Given the description of an element on the screen output the (x, y) to click on. 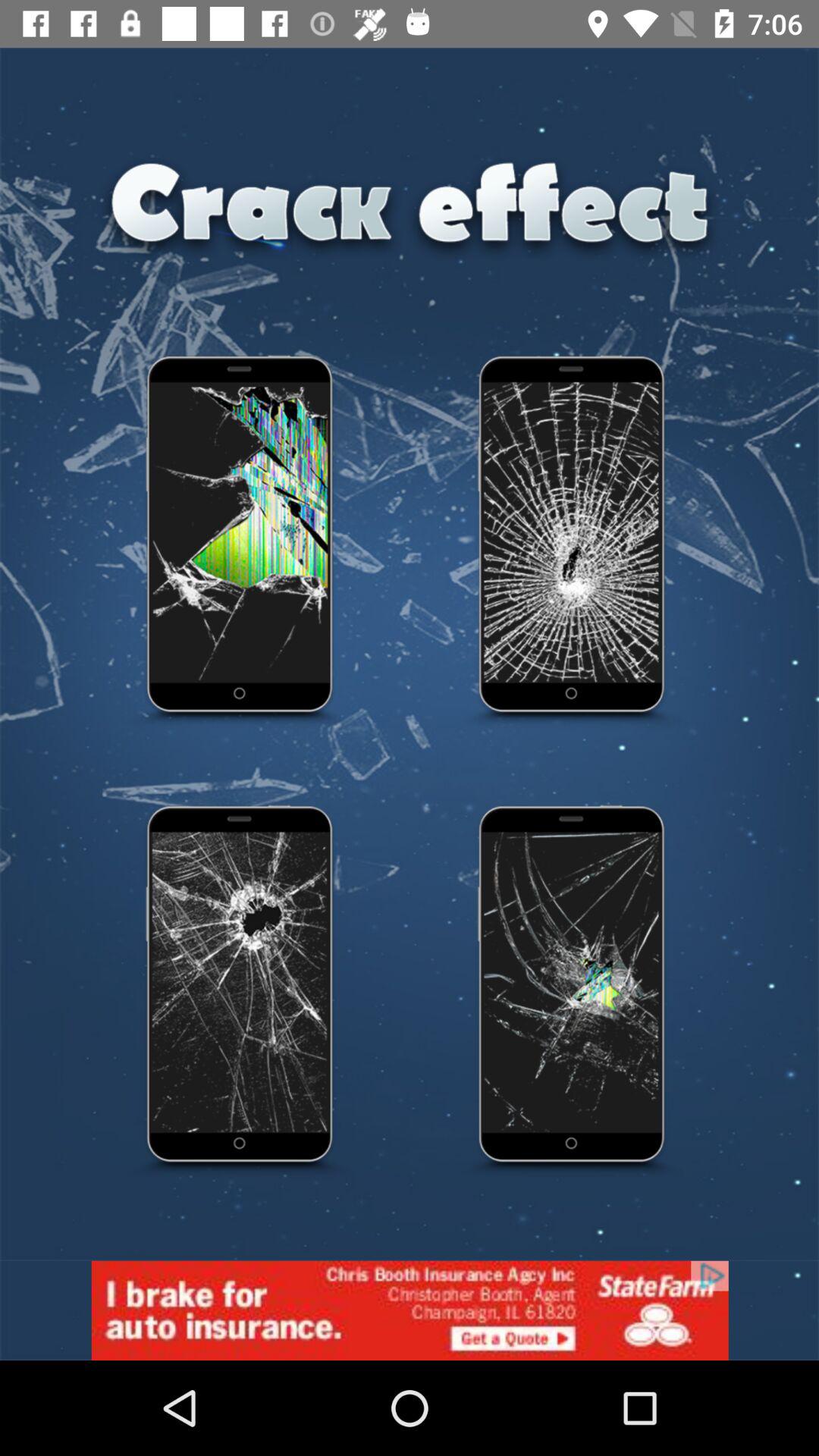
select crack effect (572, 542)
